Given the description of an element on the screen output the (x, y) to click on. 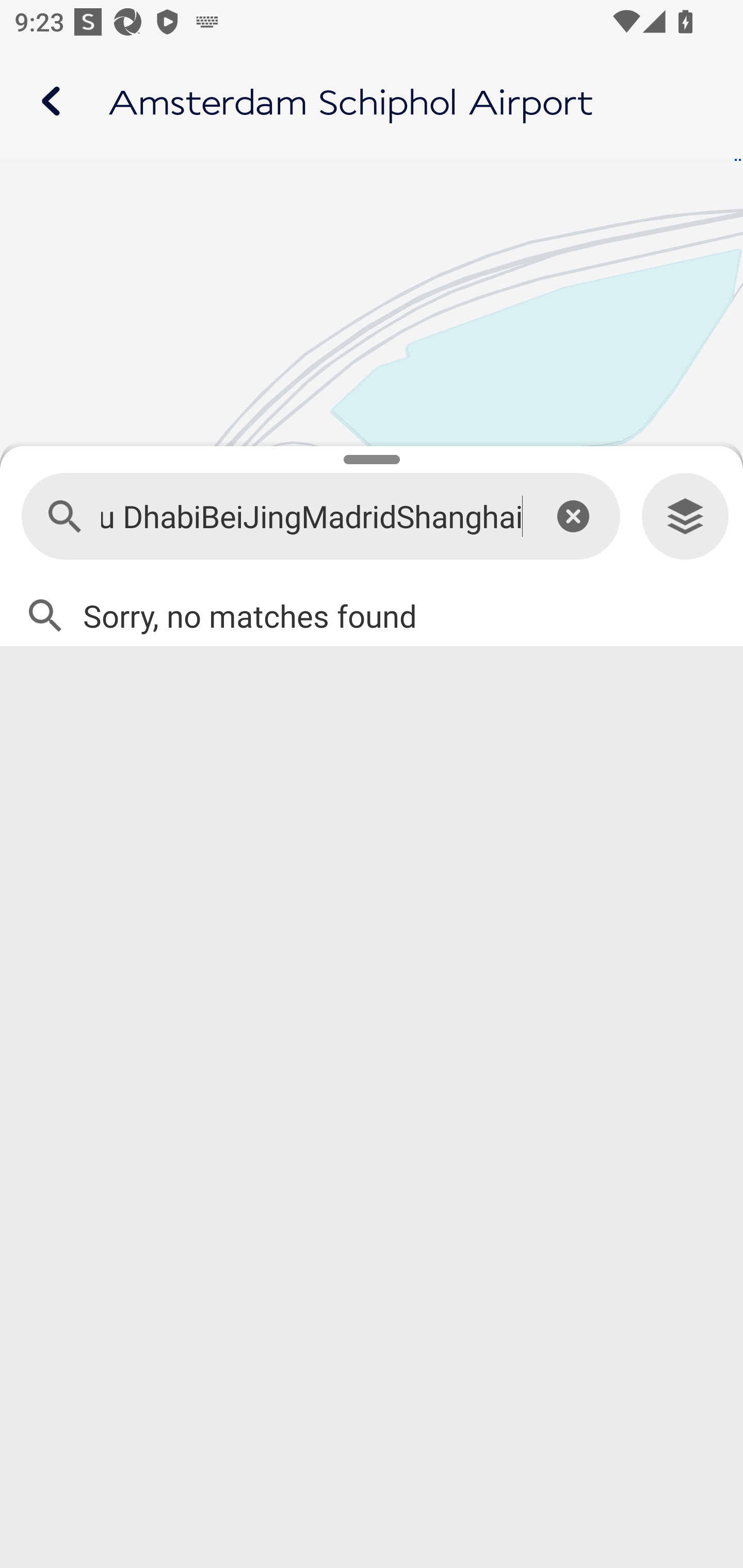
Airport map (371, 100)
MadridHong KongTokyoAbu DhabiBeiJingMadridShanghai (311, 516)
Levels (684, 516)
This is an icon for clearing the text field. (573, 515)
